Given the description of an element on the screen output the (x, y) to click on. 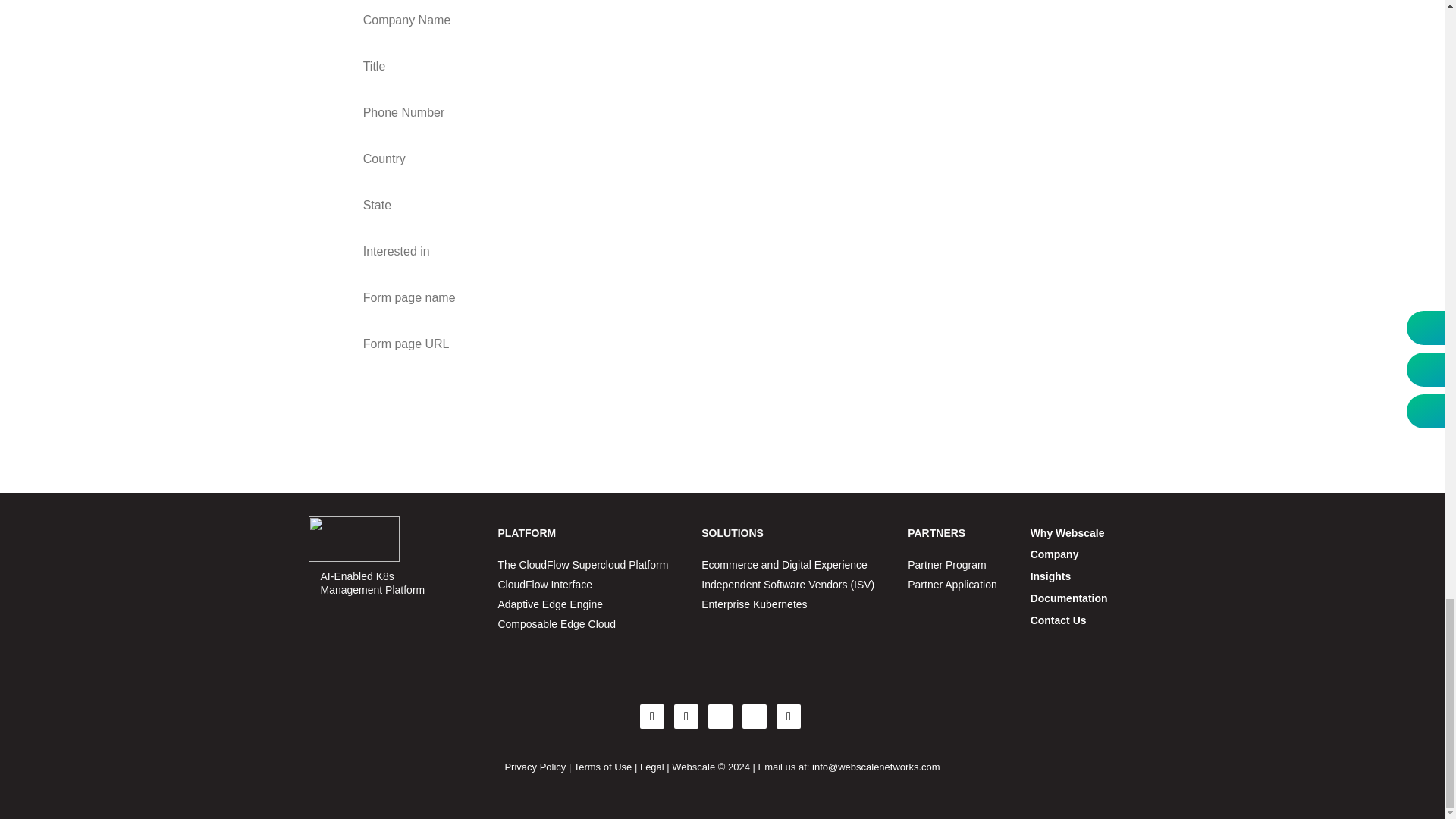
Follow on Last.fm (788, 716)
Follow on Facebook (651, 716)
Follow on LinkedIn (719, 716)
Follow on Youtube (754, 716)
Follow on X (686, 716)
